Given the description of an element on the screen output the (x, y) to click on. 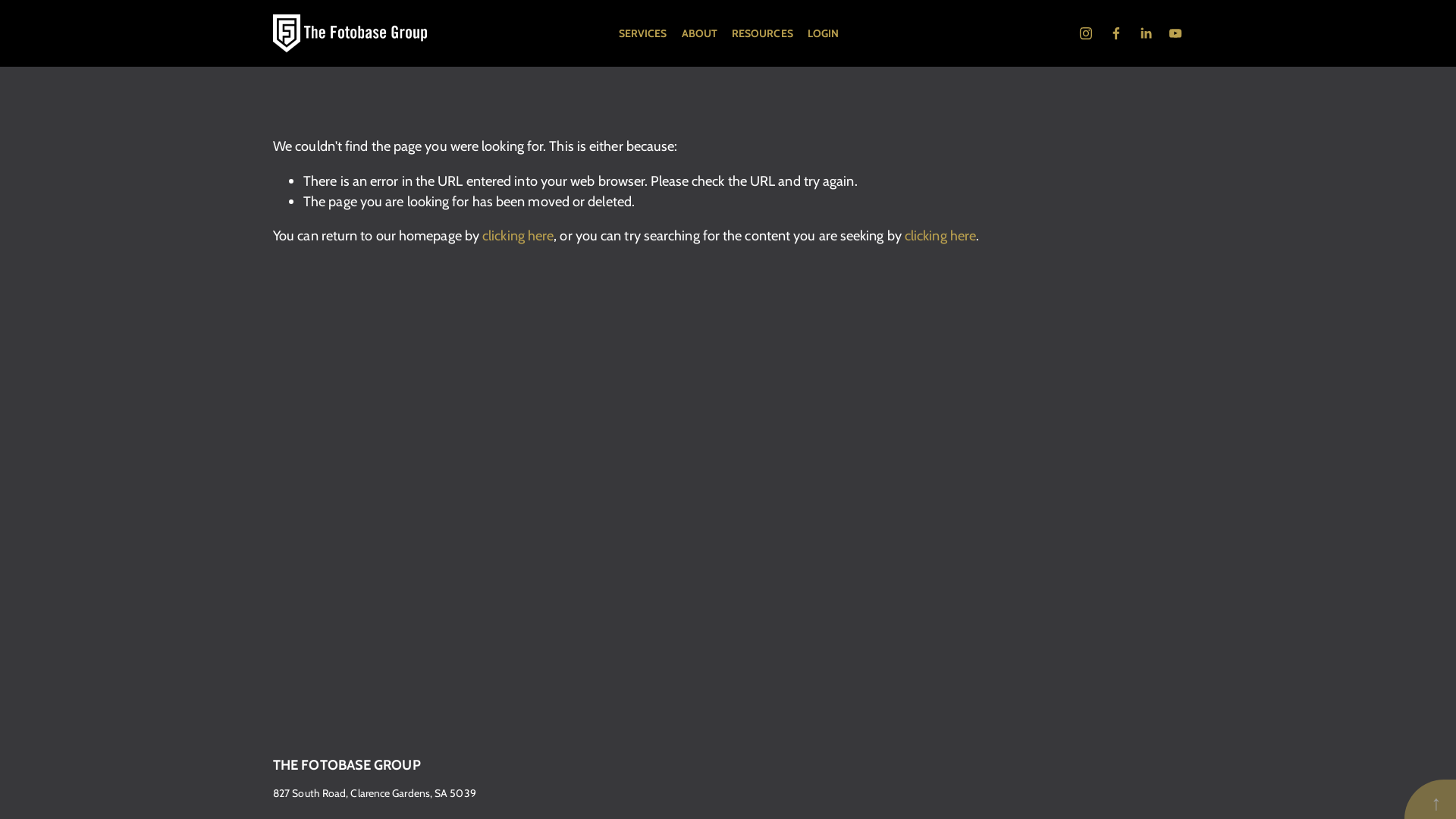
LOGIN Element type: text (822, 33)
clicking here Element type: text (939, 235)
clicking here Element type: text (517, 235)
RESOURCES Element type: text (762, 33)
ABOUT Element type: text (698, 33)
SERVICES Element type: text (642, 33)
